Given the description of an element on the screen output the (x, y) to click on. 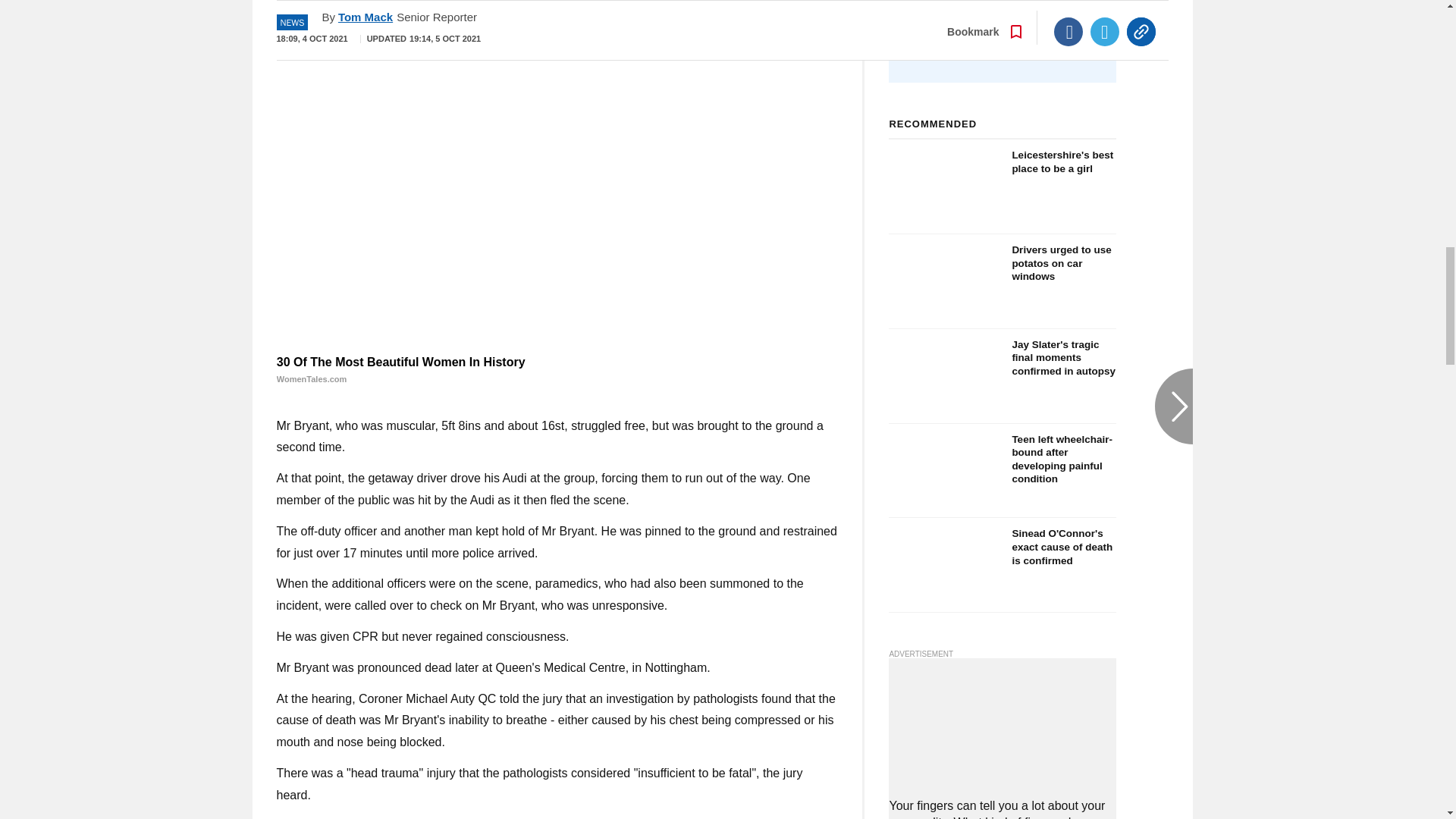
30 Of The Most Beautiful Women In History (557, 370)
